Given the description of an element on the screen output the (x, y) to click on. 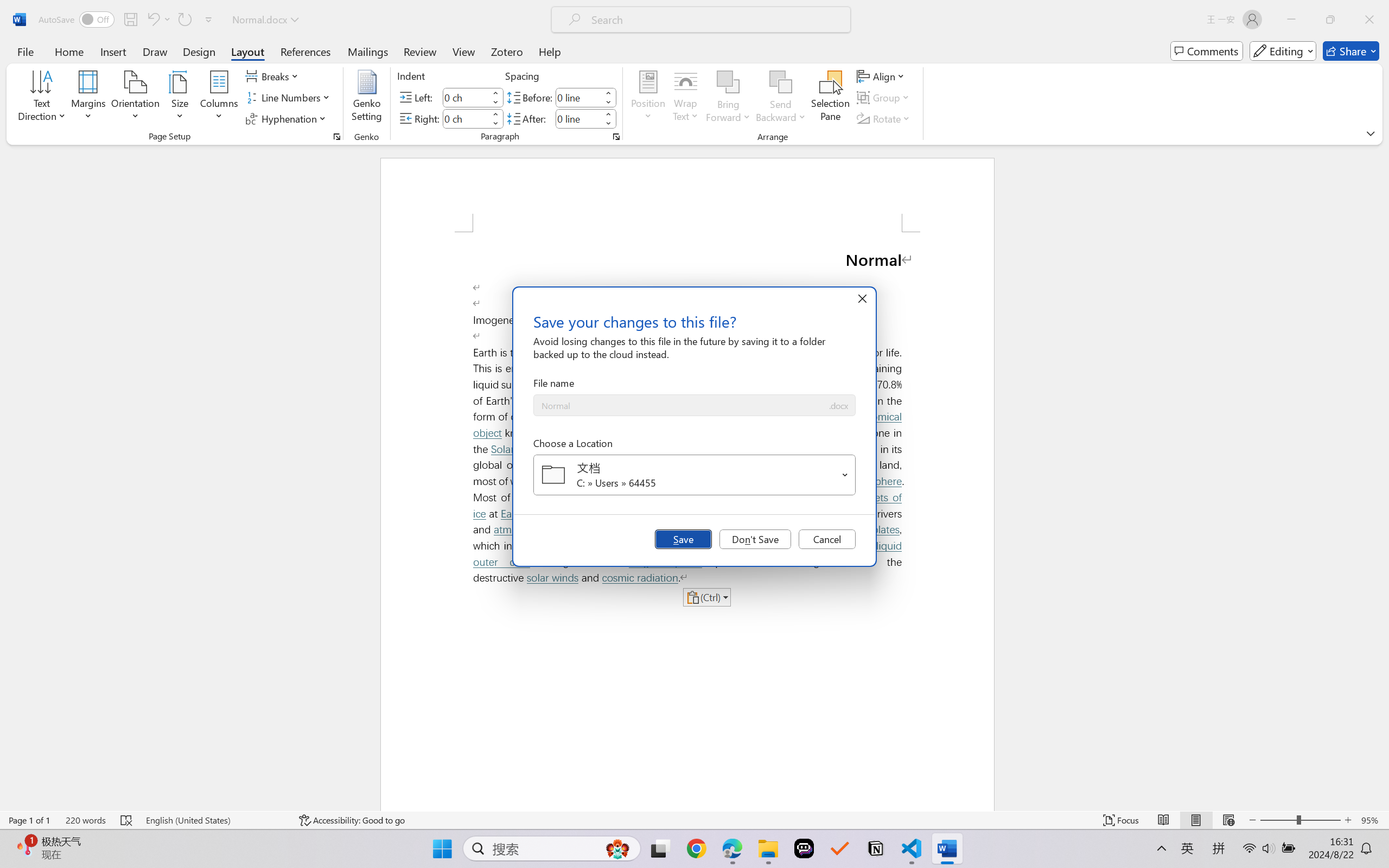
Wrap Text (685, 97)
Send Backward (781, 81)
Indent Right (465, 118)
File name (680, 405)
Class: MsoCommandBar (694, 819)
Align (881, 75)
